Given the description of an element on the screen output the (x, y) to click on. 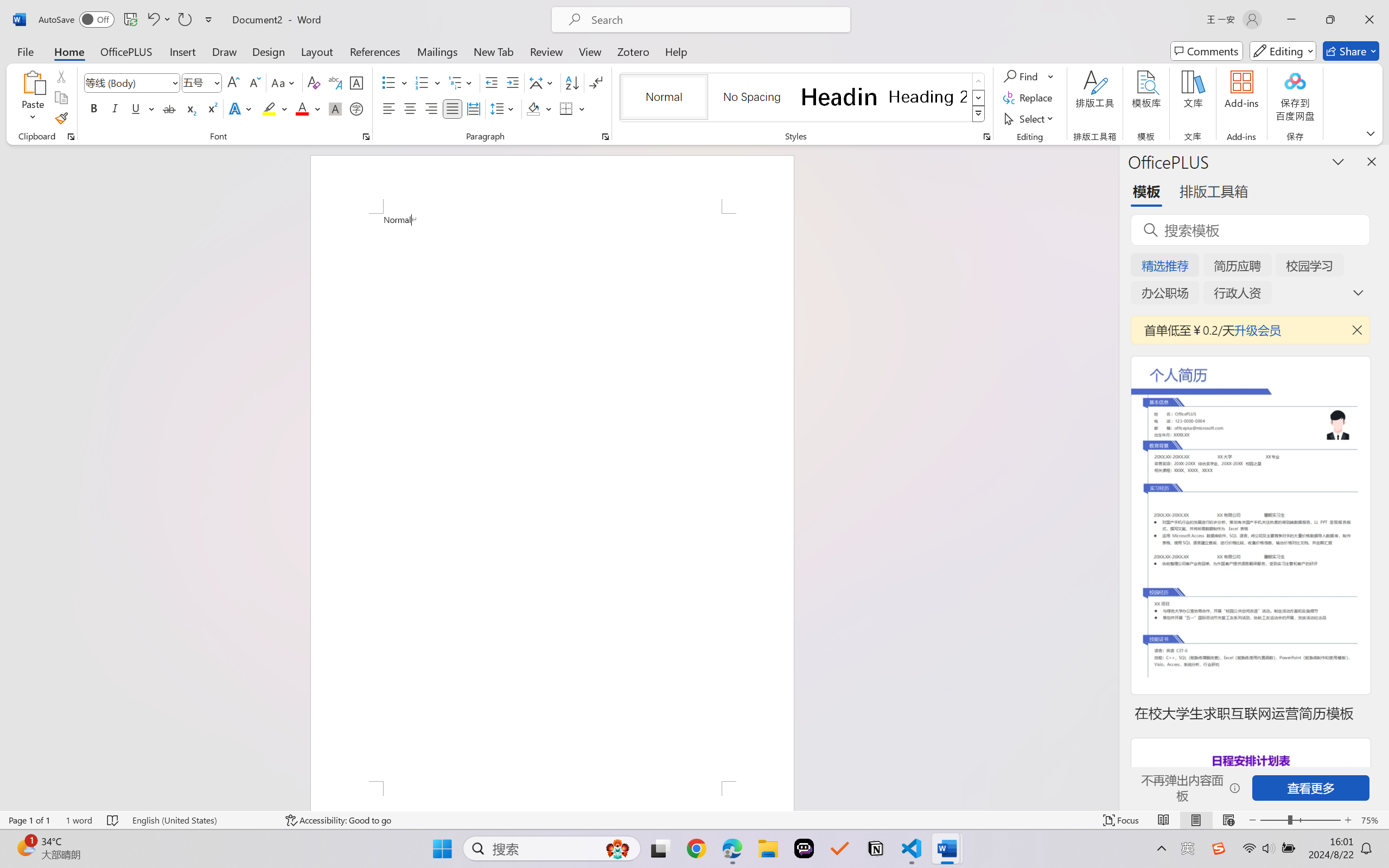
Design (268, 51)
Row Down (978, 97)
Zoom In (1348, 819)
Web Layout (1228, 819)
Enclose Characters... (356, 108)
Font Size (196, 82)
Share (1350, 51)
Decrease Indent (491, 82)
Repeat Style (184, 19)
Text Highlight Color (274, 108)
Multilevel List (461, 82)
